Given the description of an element on the screen output the (x, y) to click on. 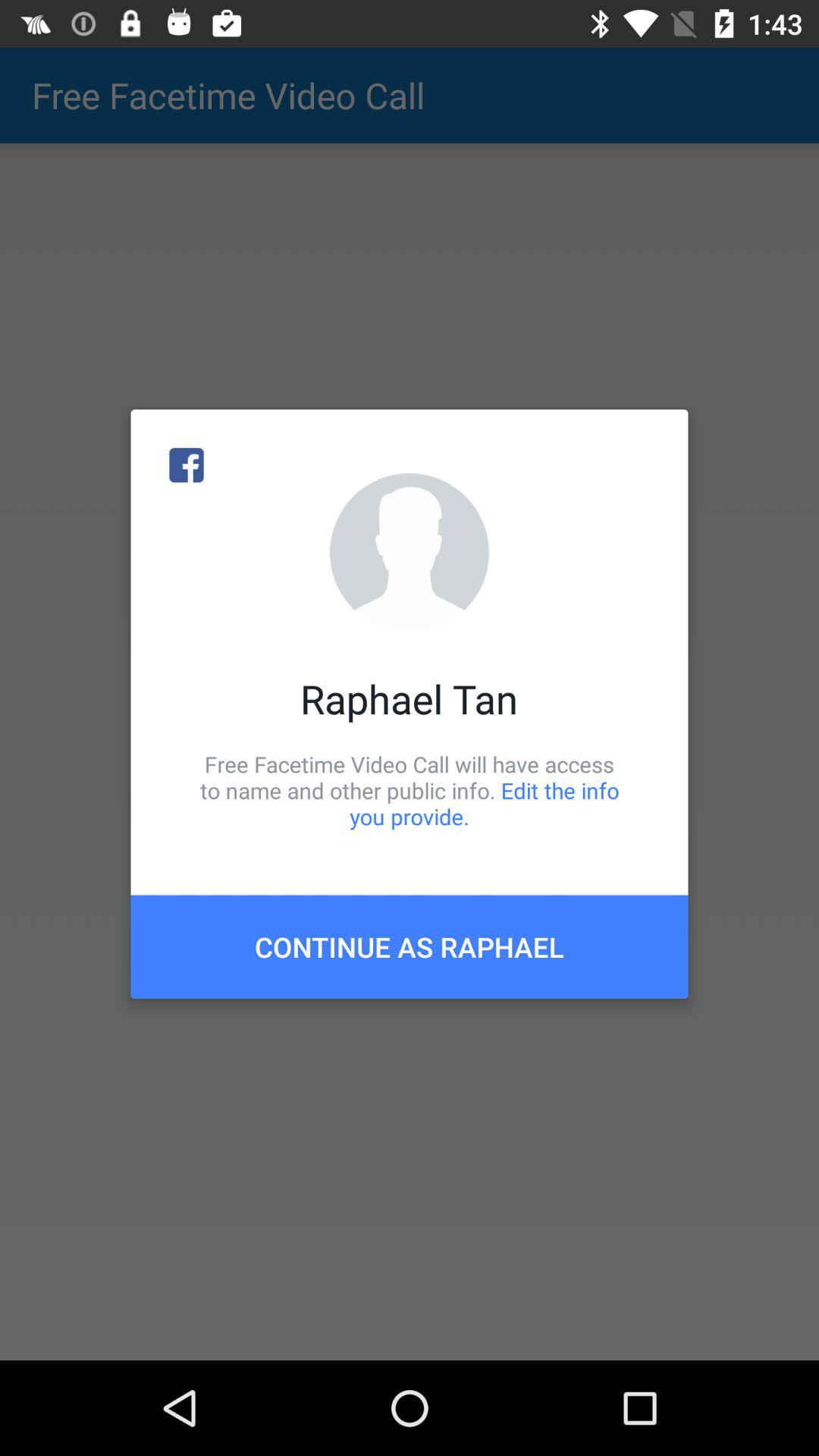
select the free facetime video icon (409, 790)
